Given the description of an element on the screen output the (x, y) to click on. 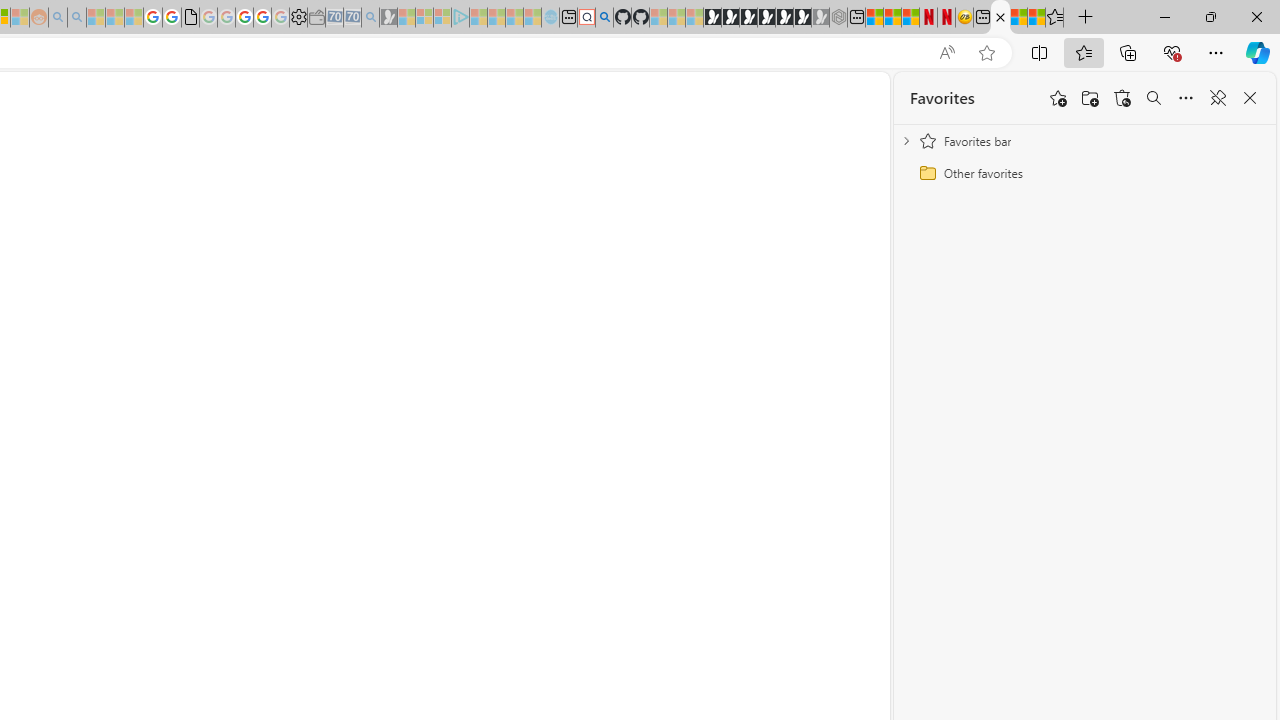
Wildlife - MSN (1017, 17)
Search favorites (1153, 98)
